Given the description of an element on the screen output the (x, y) to click on. 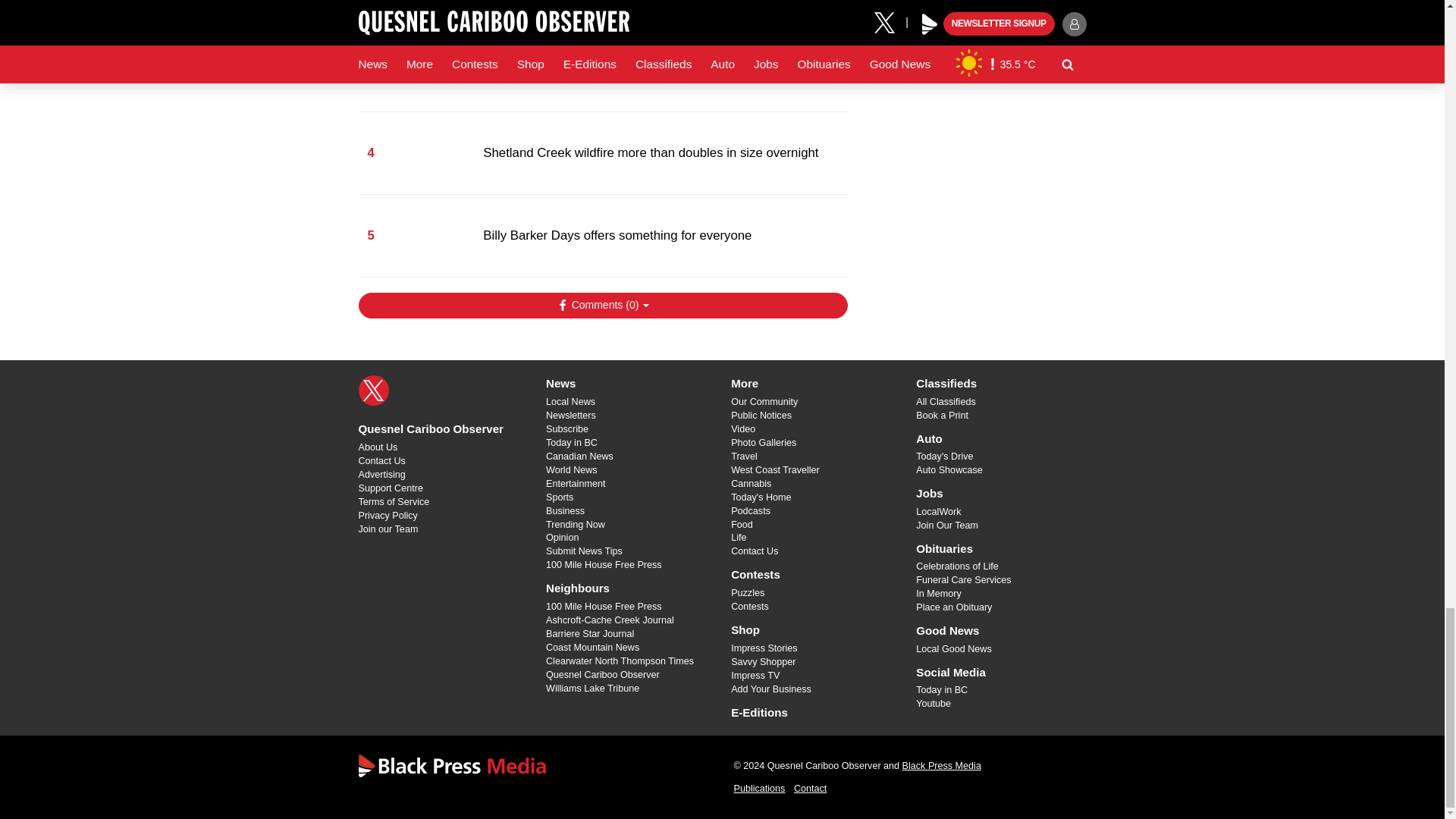
Show Comments (602, 305)
X (373, 390)
